Given the description of an element on the screen output the (x, y) to click on. 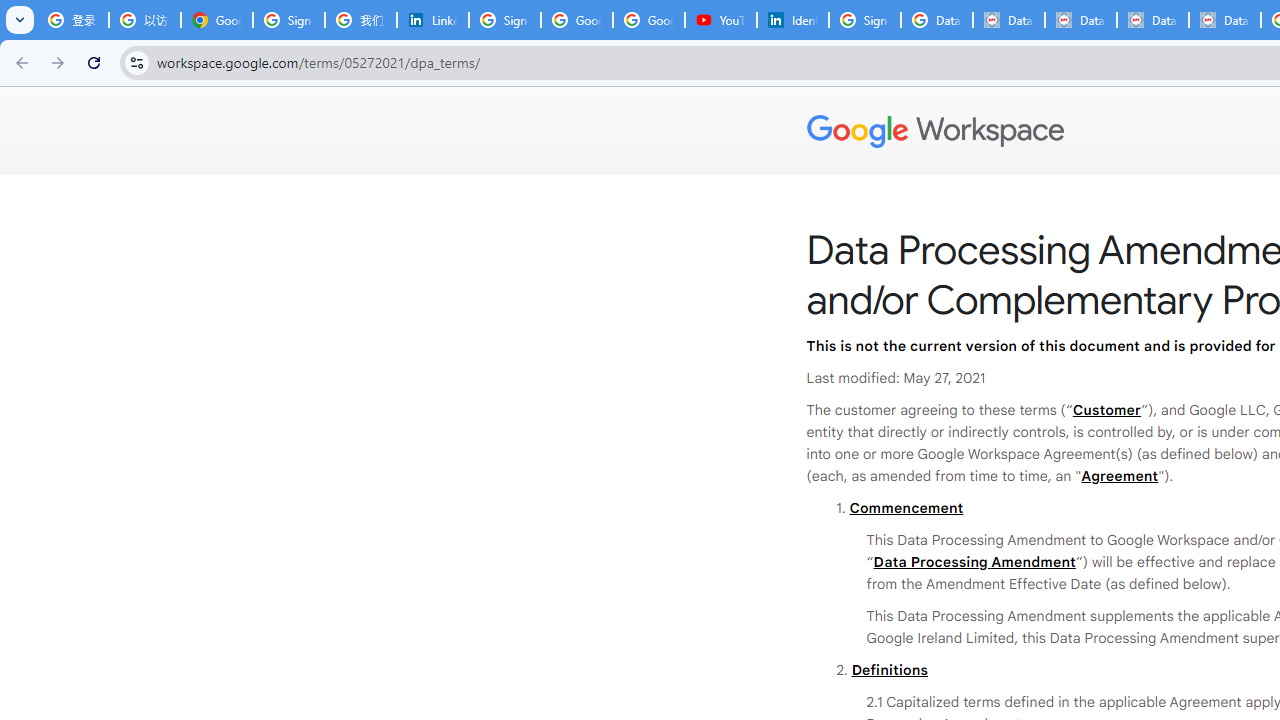
Data Privacy Framework (1153, 20)
Sign in - Google Accounts (289, 20)
Data Privacy Framework (1224, 20)
